Given the description of an element on the screen output the (x, y) to click on. 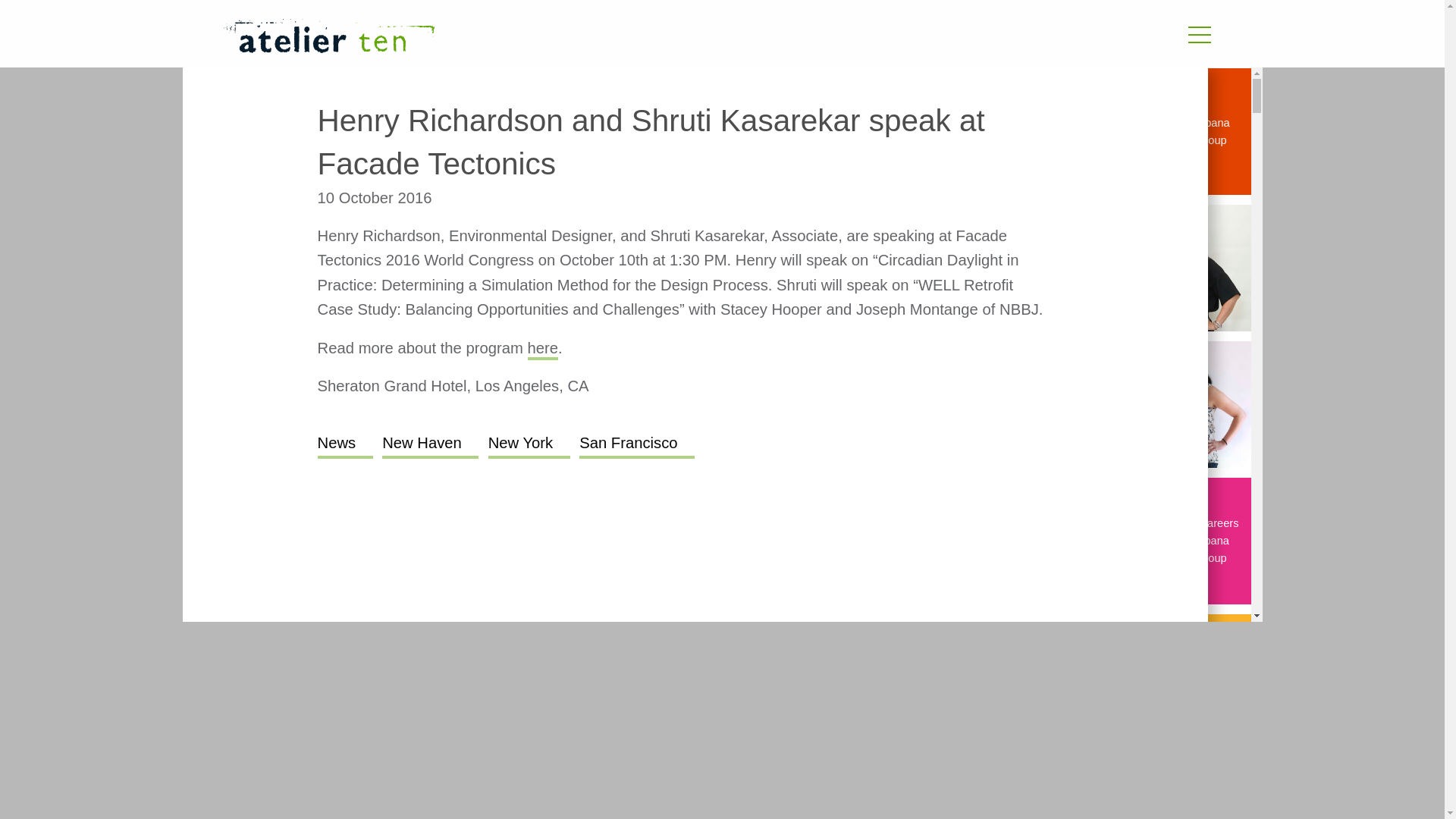
logo (536, 38)
Click to go to the Atelier Ten homepage (536, 38)
logo (327, 35)
